Given the description of an element on the screen output the (x, y) to click on. 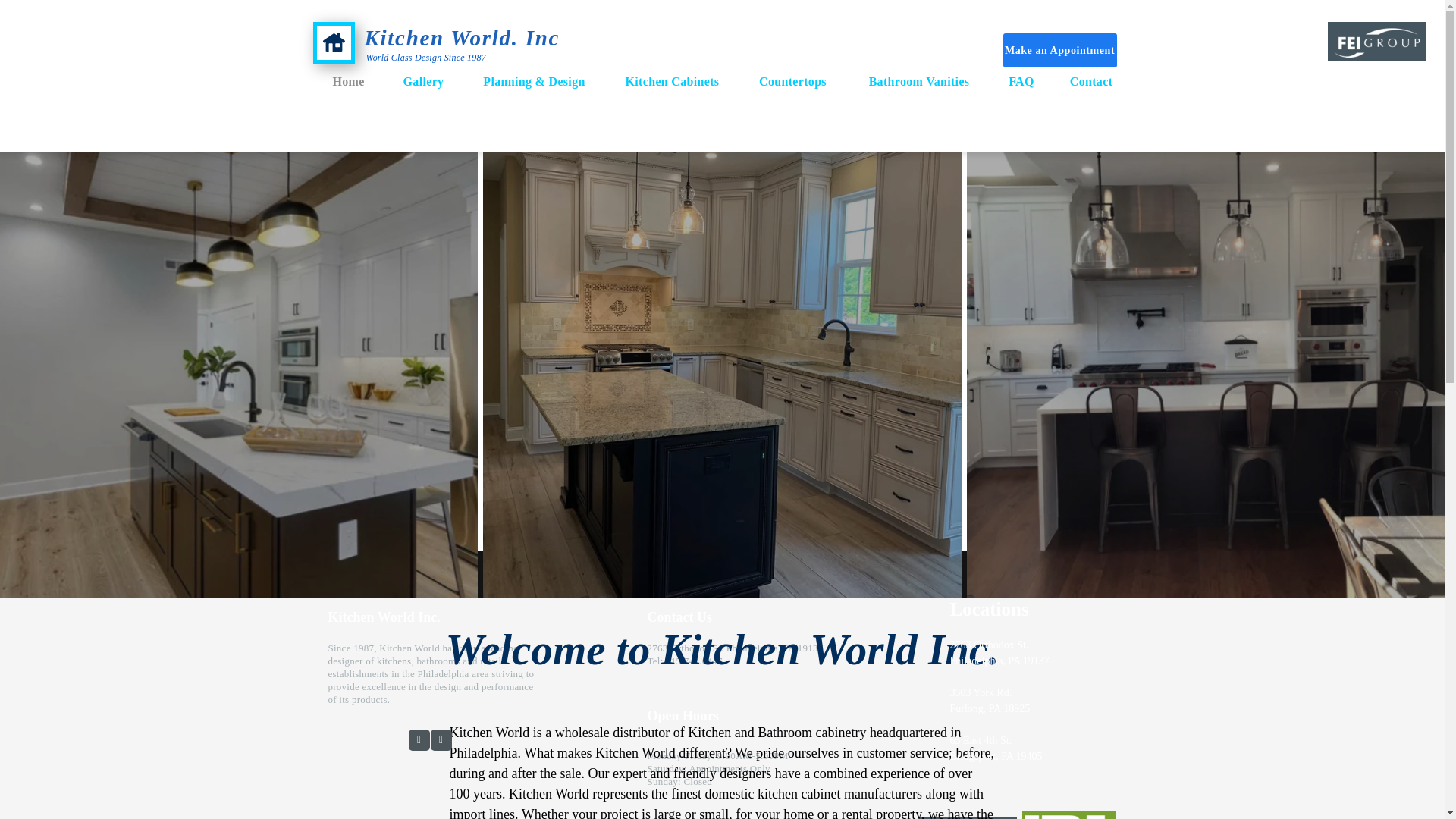
Countertops (791, 81)
Home (348, 81)
Bathroom Vanities (918, 81)
Contact (1091, 81)
Website (596, 722)
Shop (1251, 41)
Make an Appointment (1059, 50)
Website Builder (829, 722)
FAQ (1021, 81)
Gallery (423, 81)
